Given the description of an element on the screen output the (x, y) to click on. 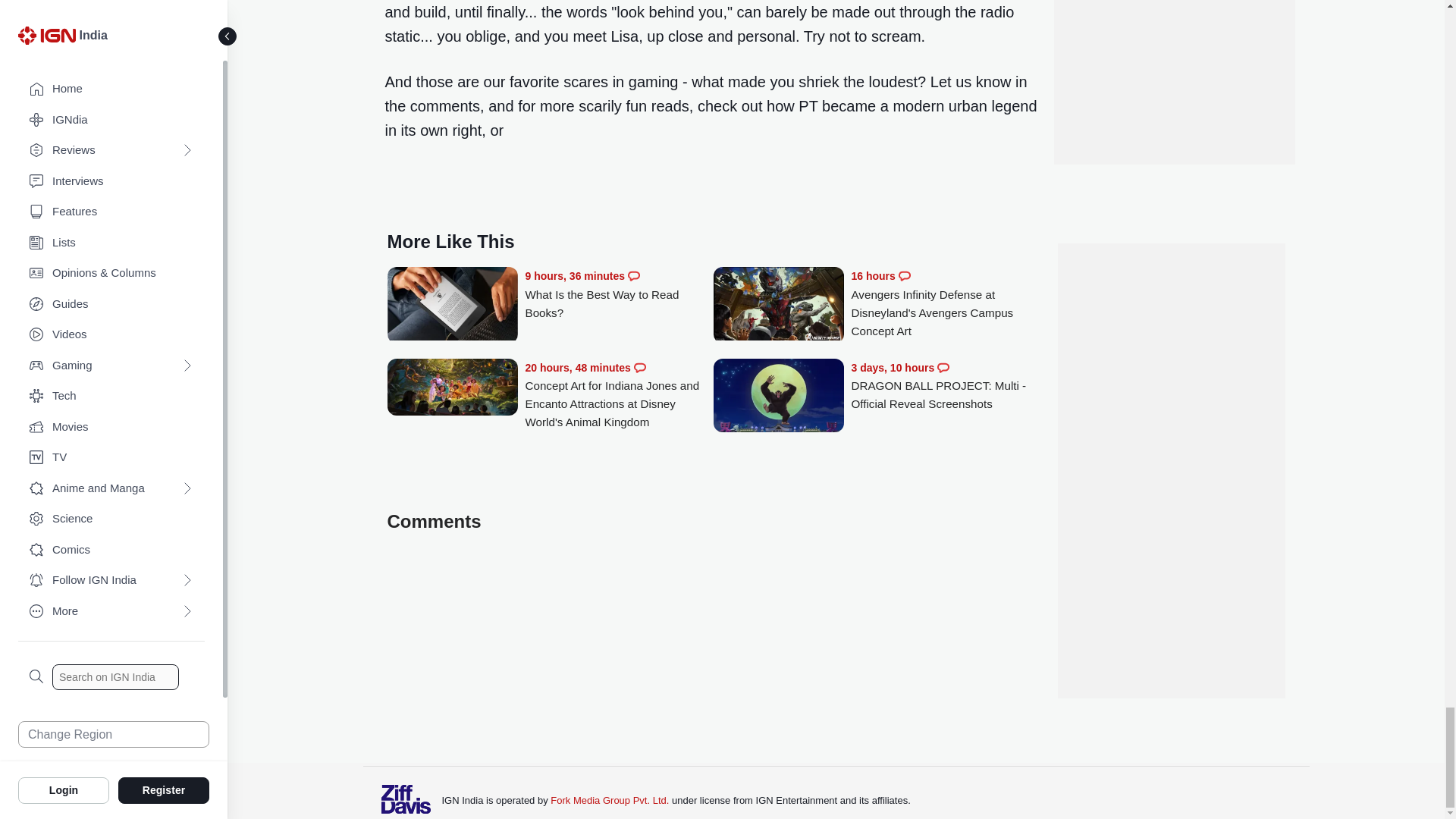
DRAGON BALL PROJECT: Multi - Official Reveal Screenshots (944, 386)
What Is the Best Way to Read Books? (618, 294)
DRAGON BALL PROJECT: Multi - Official Reveal Screenshots (778, 396)
What Is the Best Way to Read Books? (451, 306)
